Given the description of an element on the screen output the (x, y) to click on. 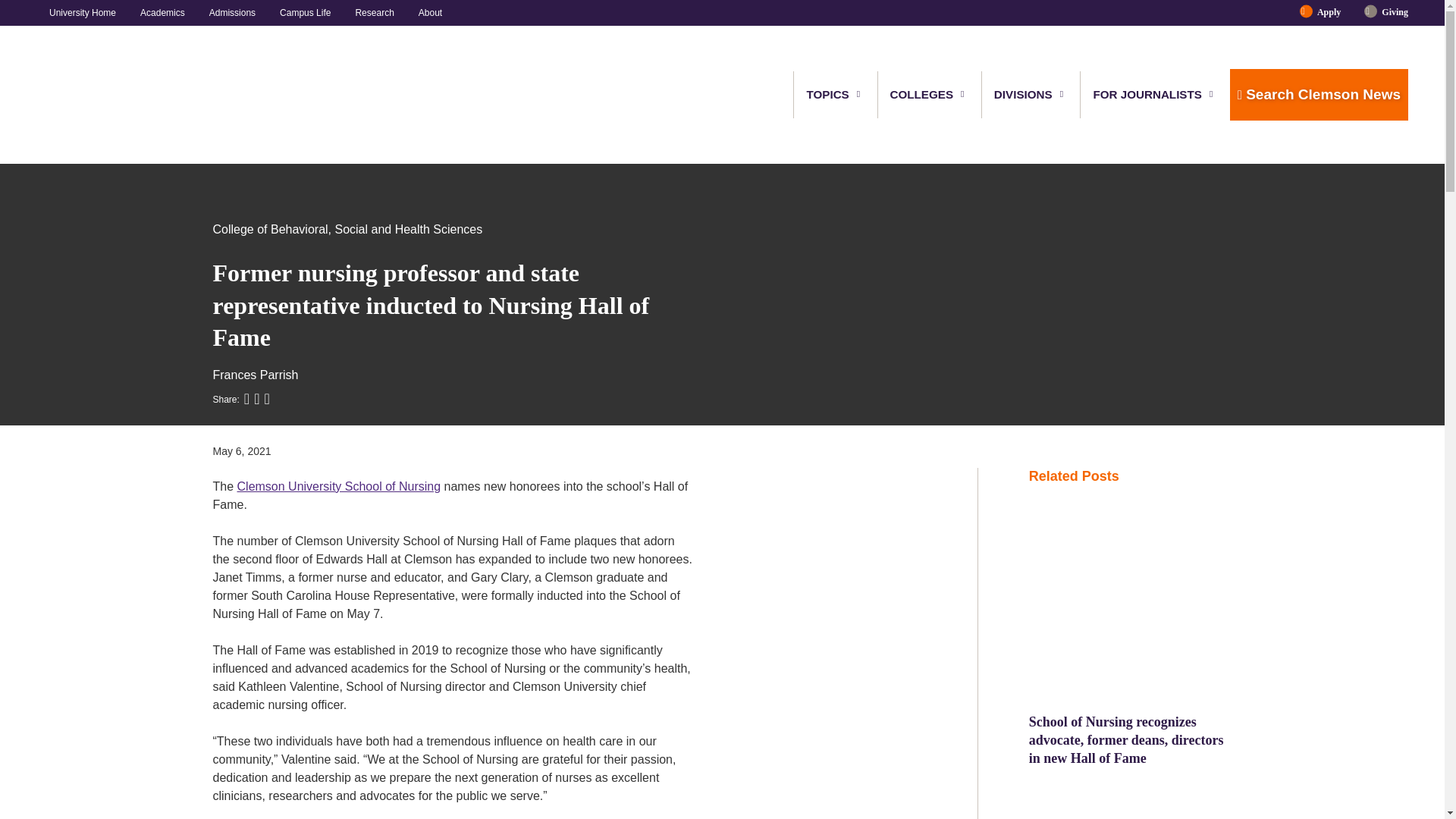
Academics (162, 12)
Clemson News (114, 94)
COLLEGES (922, 94)
Giving (1388, 11)
About (424, 12)
Posts by Frances Parrish (255, 374)
Research (374, 12)
TOPICS (828, 94)
University Home (88, 12)
Admissions (231, 12)
Apply (1328, 11)
Campus Life (304, 12)
DIVISIONS (1023, 94)
